Given the description of an element on the screen output the (x, y) to click on. 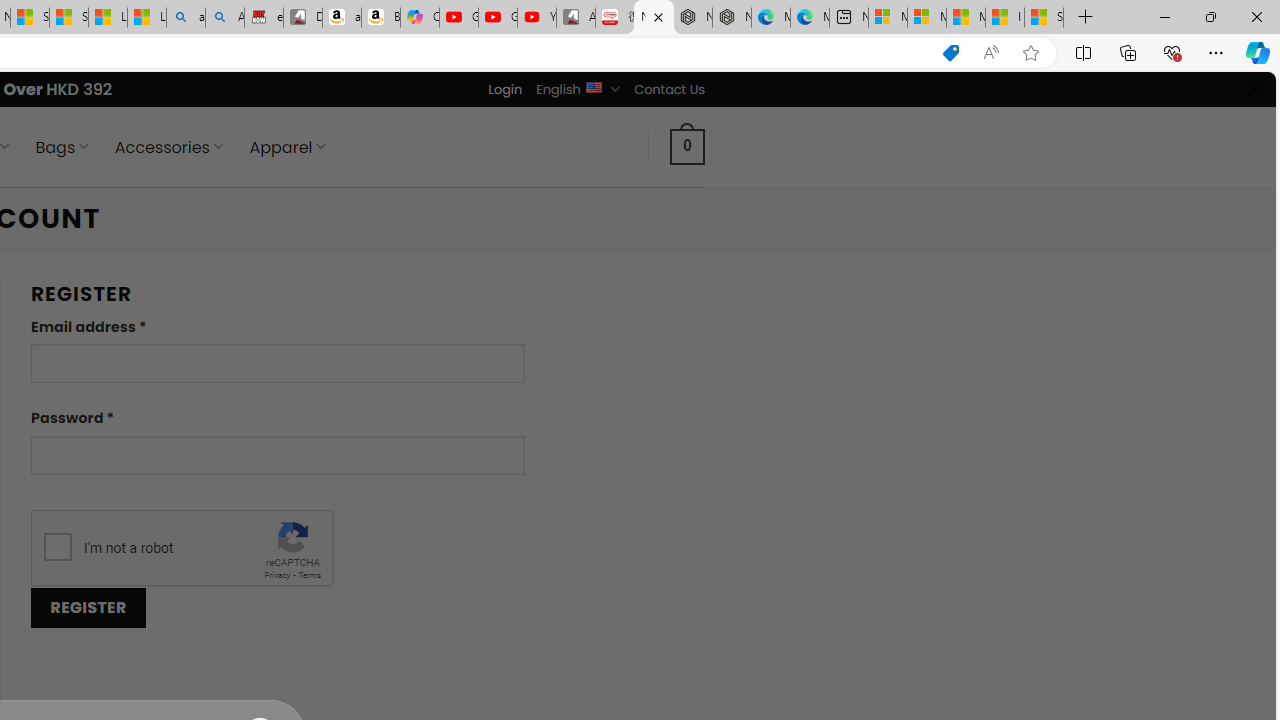
Class: feather feather-x (1254, 88)
YouTube Kids - An App Created for Kids to Explore Content (536, 17)
Terms (309, 575)
  0   (687, 146)
Login (505, 89)
 0  (687, 146)
